Given the description of an element on the screen output the (x, y) to click on. 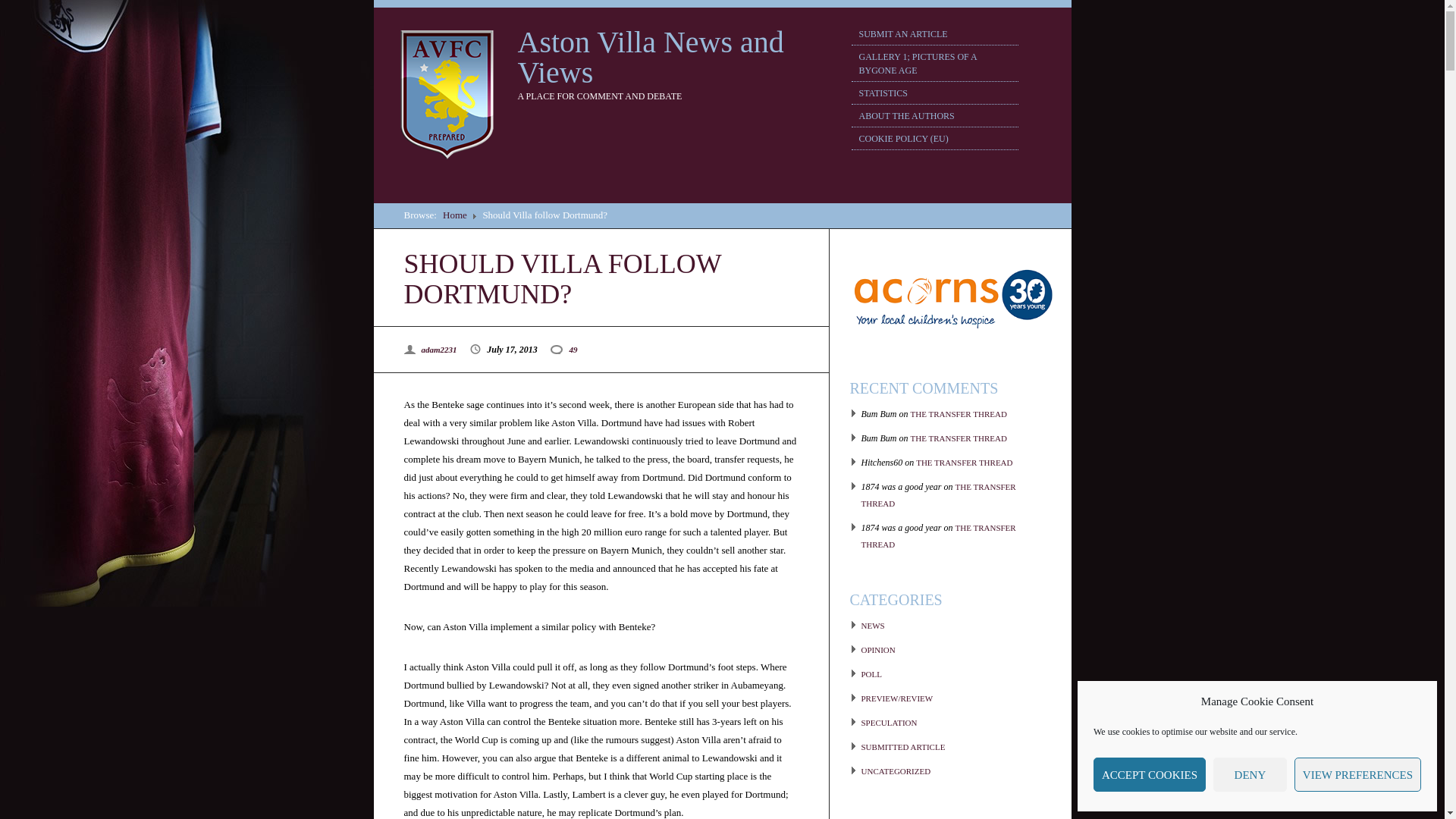
ACCEPT COOKIES (1149, 774)
adam2231 (439, 348)
Aston Villa News and Views (649, 57)
49 (569, 348)
VIEW PREFERENCES (1357, 774)
DENY (1249, 774)
Aston Villa News and Views (454, 214)
Comment on Should Villa follow Dortmund? (569, 348)
ABOUT THE AUTHORS (933, 115)
Aston Villa News and Views (649, 57)
Home (454, 214)
SUBMIT AN ARTICLE (933, 33)
SHOULD VILLA FOLLOW DORTMUND? (561, 278)
Wednesday, July 17th, 2013, 7:49 pm (509, 348)
GALLERY 1; PICTURES OF A BYGONE AGE (933, 63)
